Given the description of an element on the screen output the (x, y) to click on. 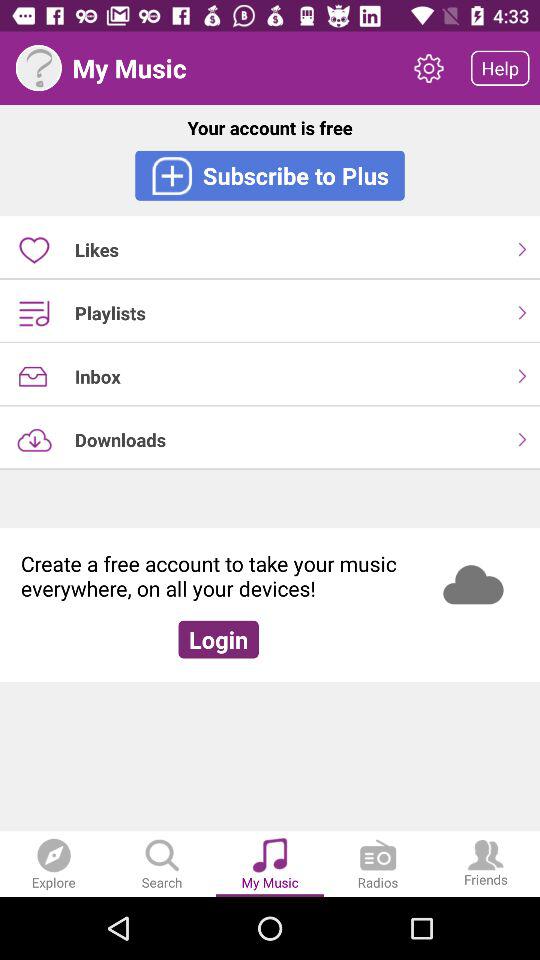
click item above the your account is icon (428, 67)
